Given the description of an element on the screen output the (x, y) to click on. 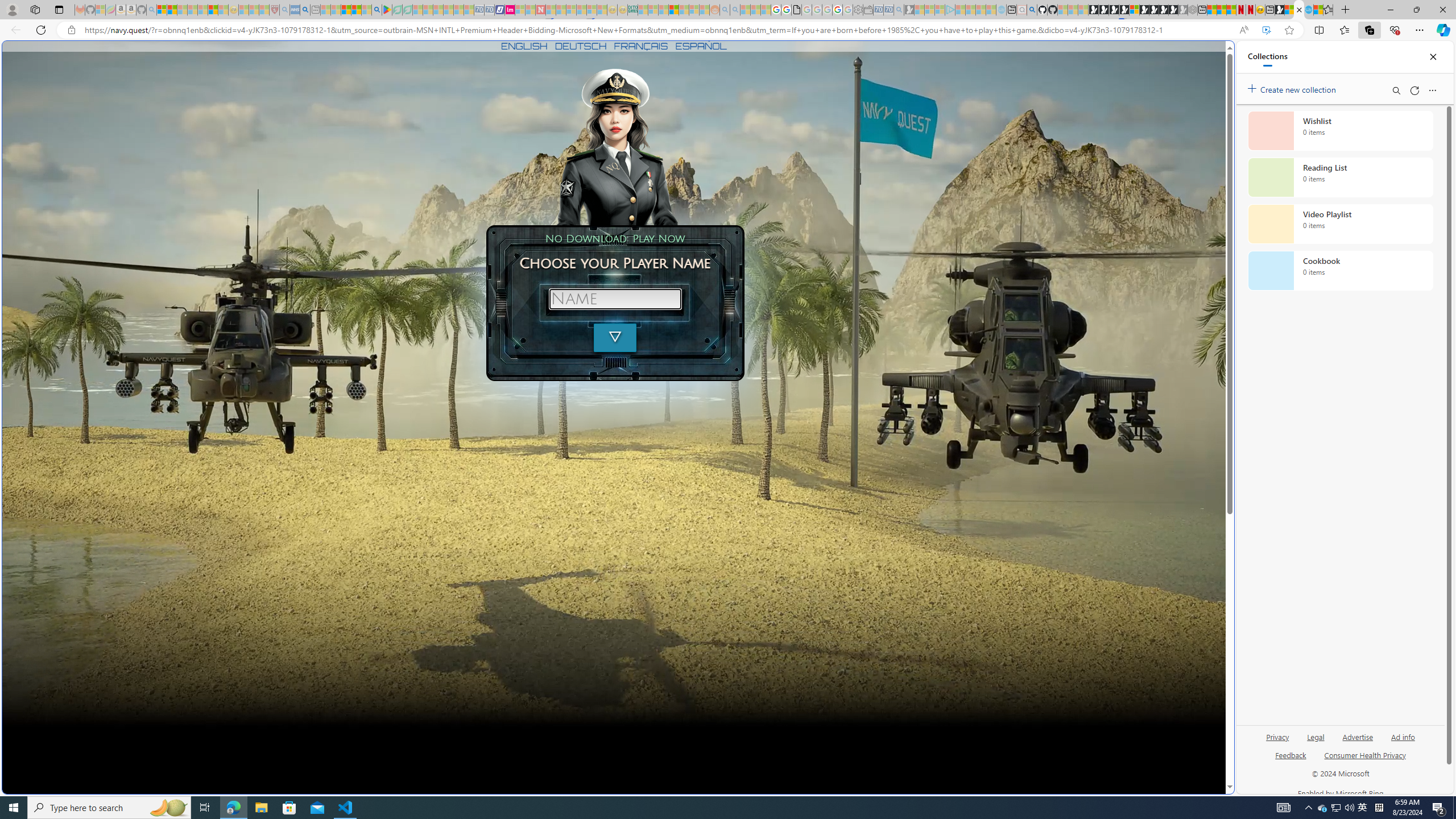
utah sues federal government - Search (922, 389)
github - Search (1032, 9)
Jobs - lastminute.com Investor Portal (509, 9)
Close split screen (1208, 57)
